Given the description of an element on the screen output the (x, y) to click on. 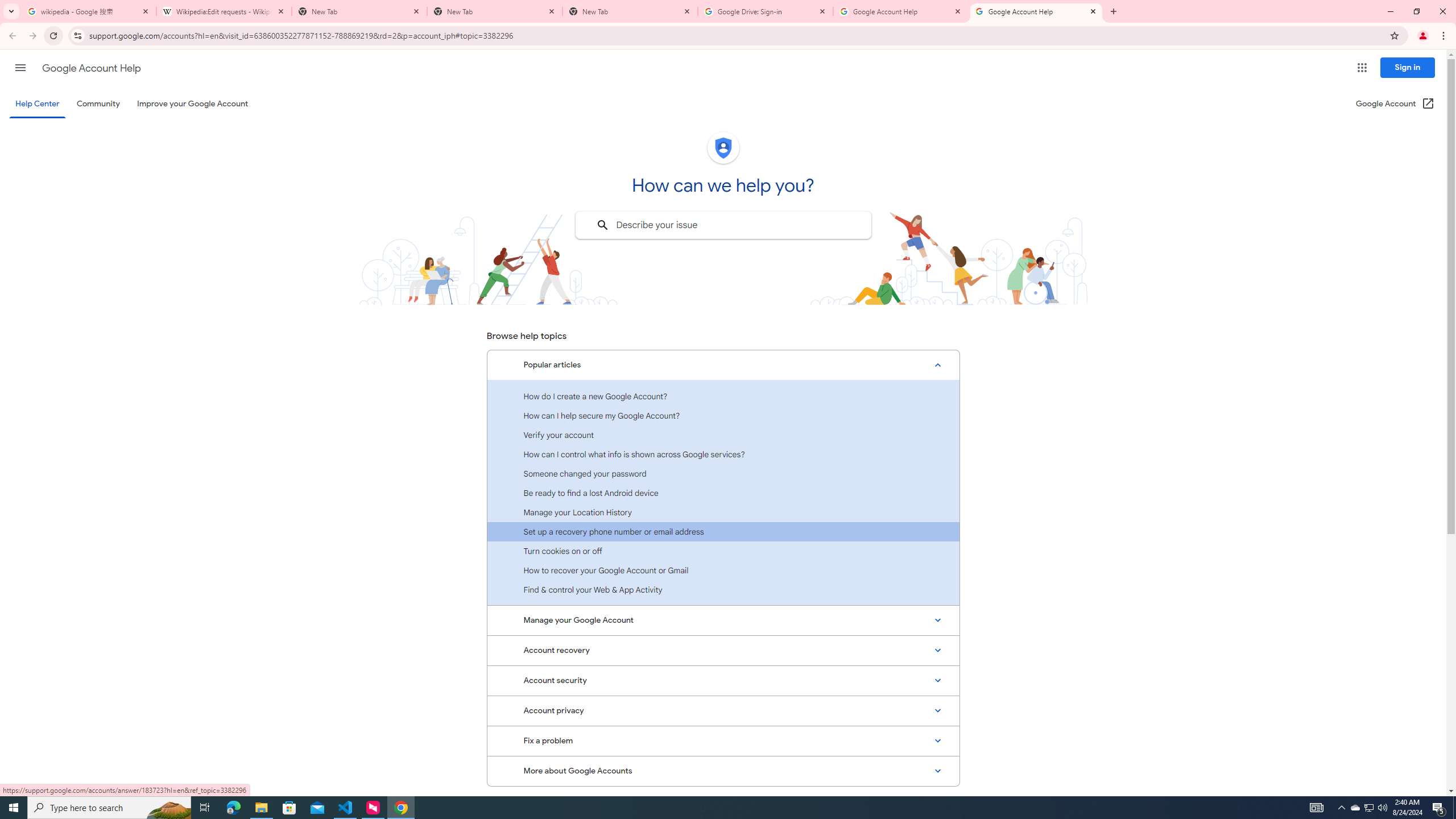
Find & control your Web & App Activity (722, 589)
Google Drive: Sign-in (765, 11)
Popular articles, Expanded list with 11 items (722, 365)
